Given the description of an element on the screen output the (x, y) to click on. 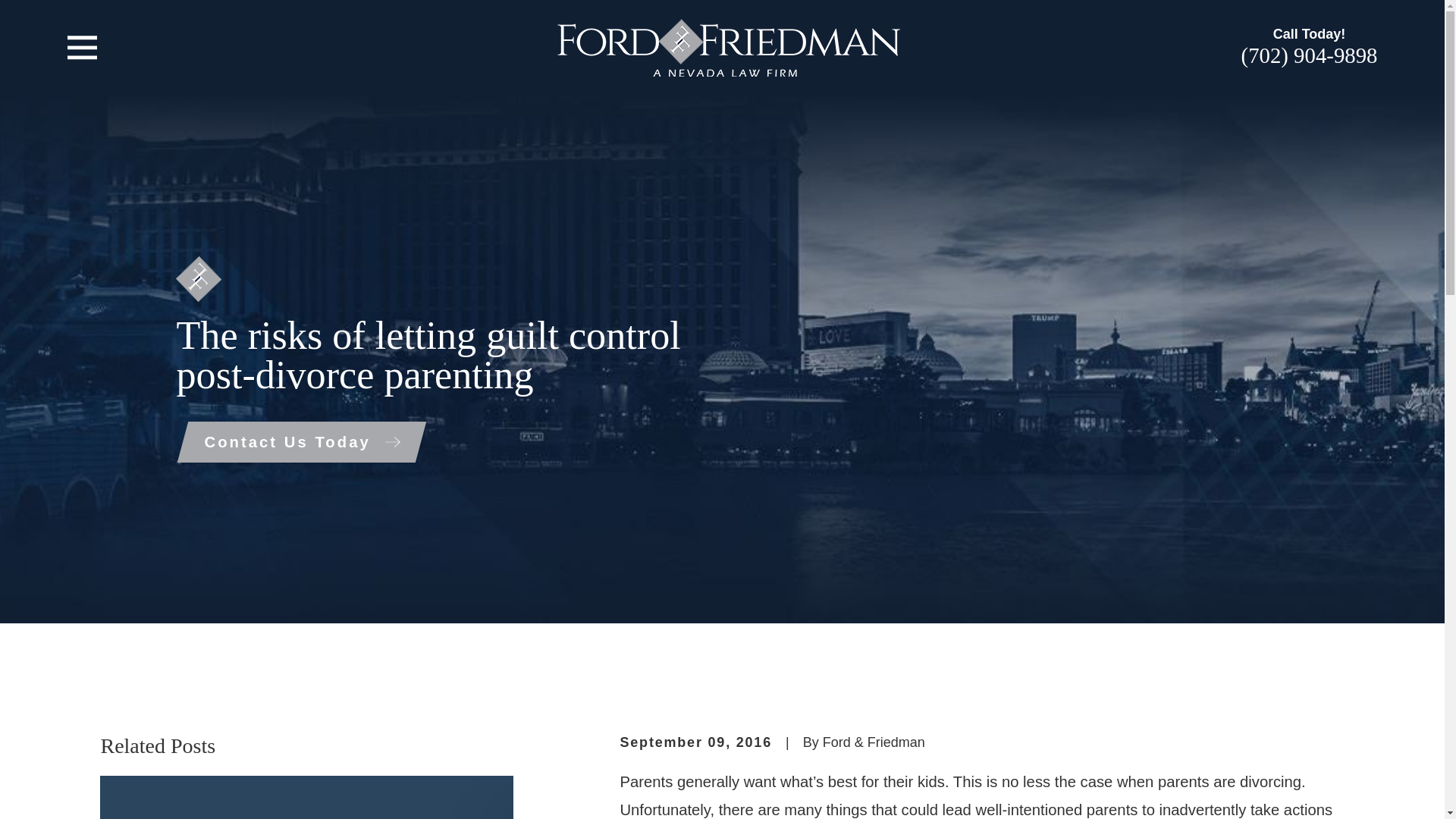
Home (728, 47)
Main Menu (81, 47)
